Given the description of an element on the screen output the (x, y) to click on. 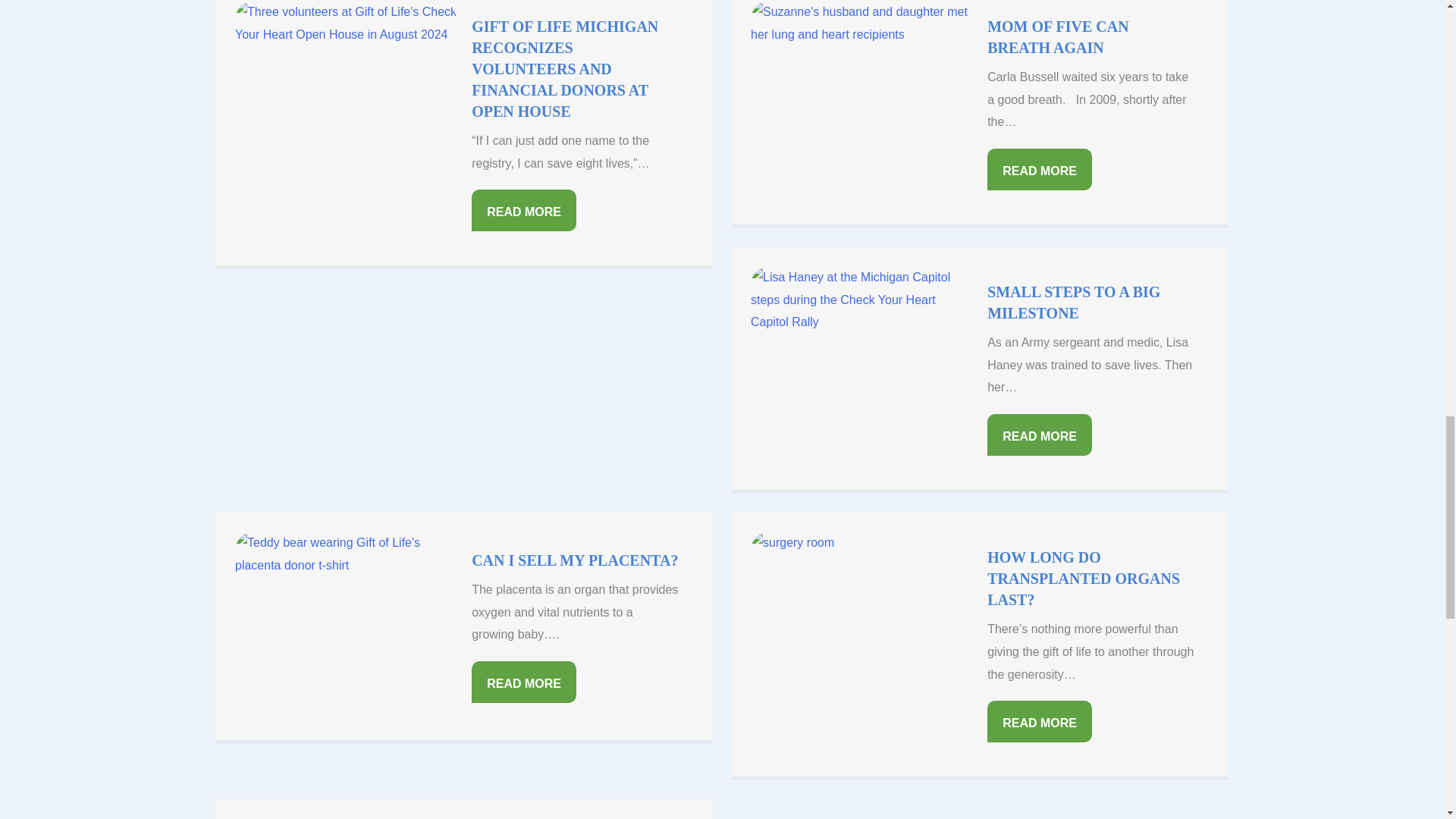
Read More (1039, 169)
Mom of five can breath again (861, 93)
Read More (523, 209)
Small steps to a big milestone (861, 359)
Mom of five can breath again (1057, 37)
